Given the description of an element on the screen output the (x, y) to click on. 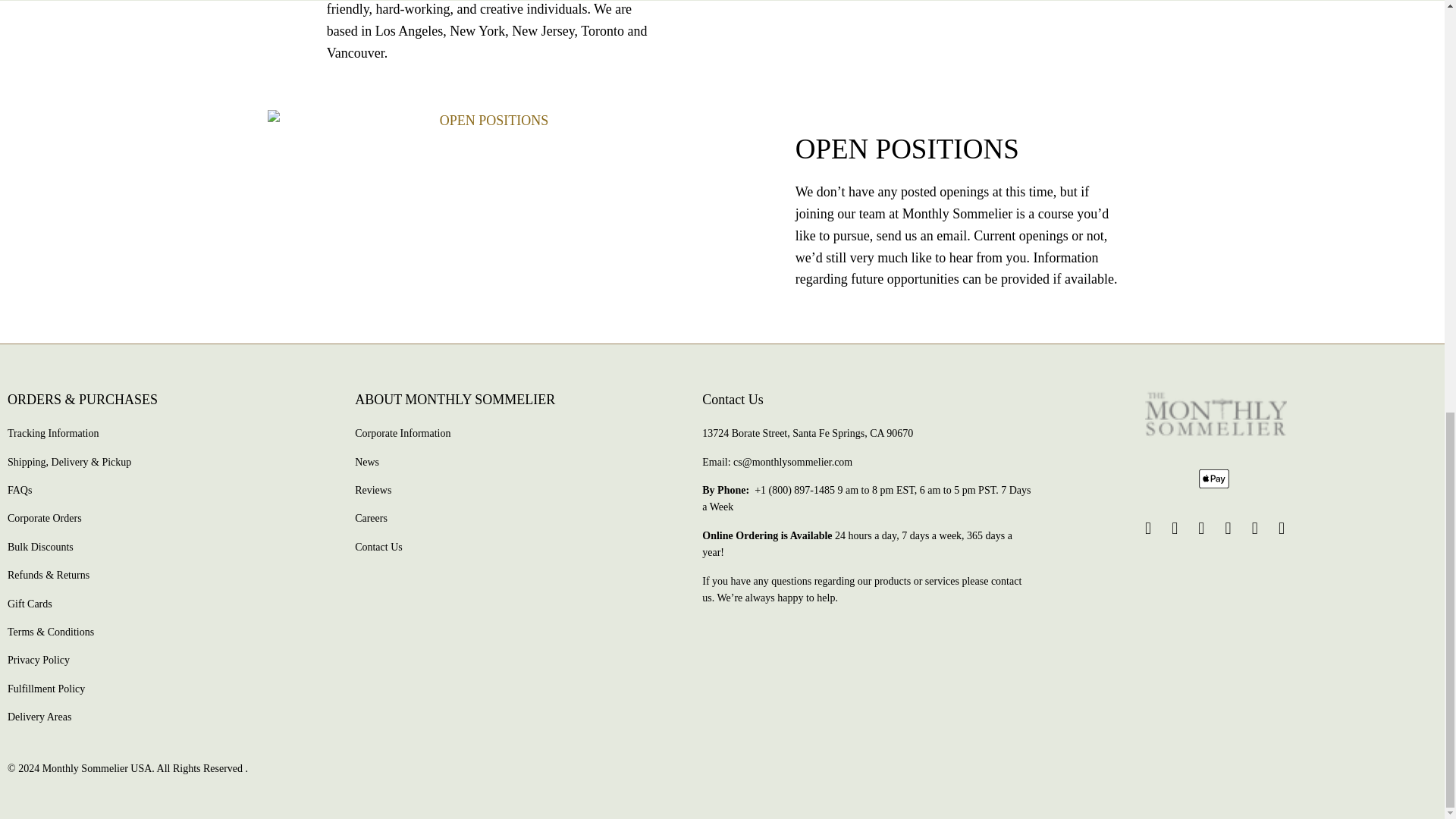
Monthly Sommelier USA on Snapchat (1282, 528)
OPEN POSITIONS (486, 120)
Monthly Sommelier USA on Facebook (1174, 528)
Monthly Sommelier USA on YouTube (1201, 528)
Monthly Sommelier USA on Twitter (1148, 528)
Monthly Sommelier USA on Instagram (1254, 528)
Monthly Sommelier USA on Pinterest (1228, 528)
